Given the description of an element on the screen output the (x, y) to click on. 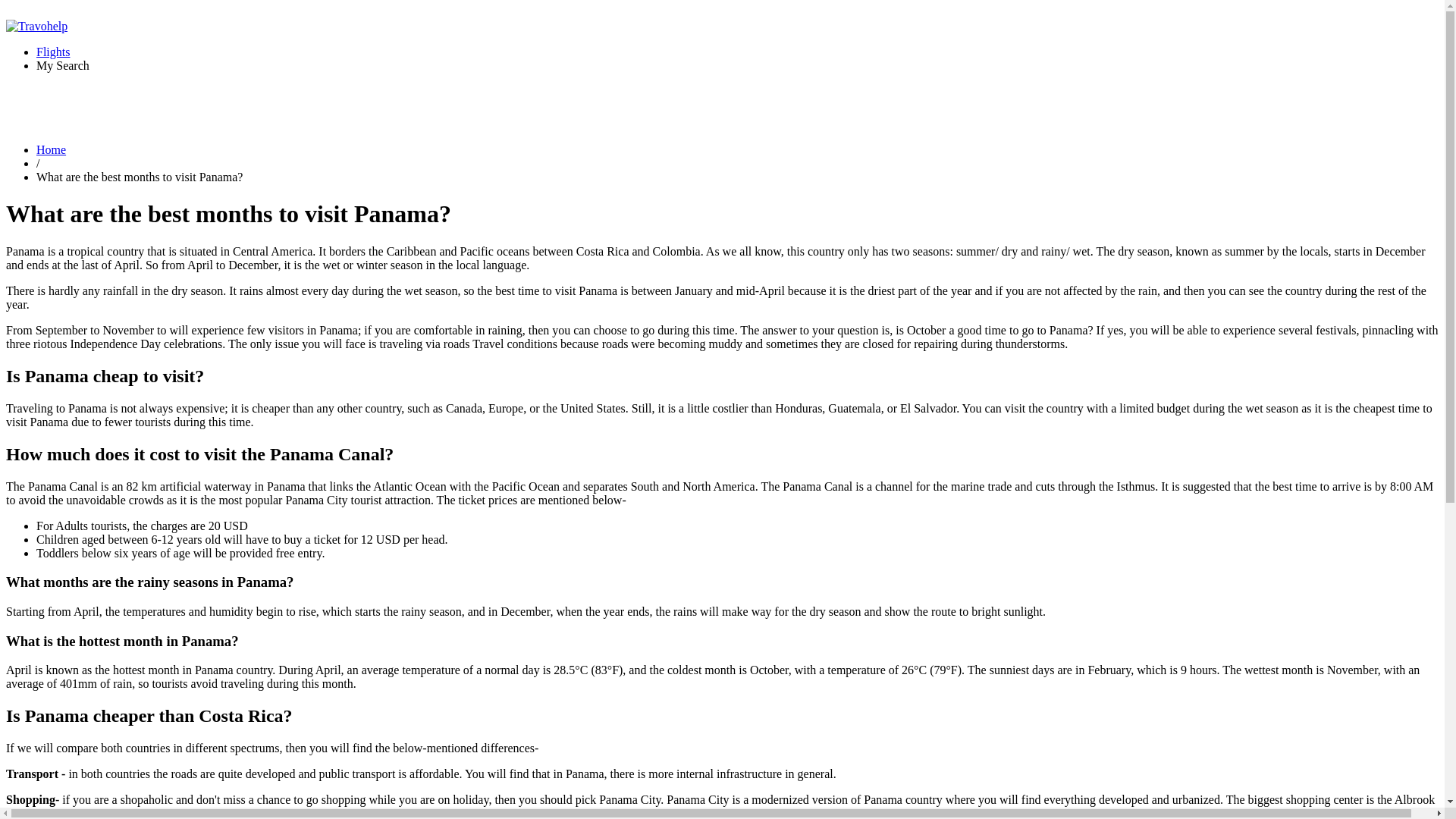
Home (50, 149)
Flights (52, 51)
My Search (62, 65)
